Given the description of an element on the screen output the (x, y) to click on. 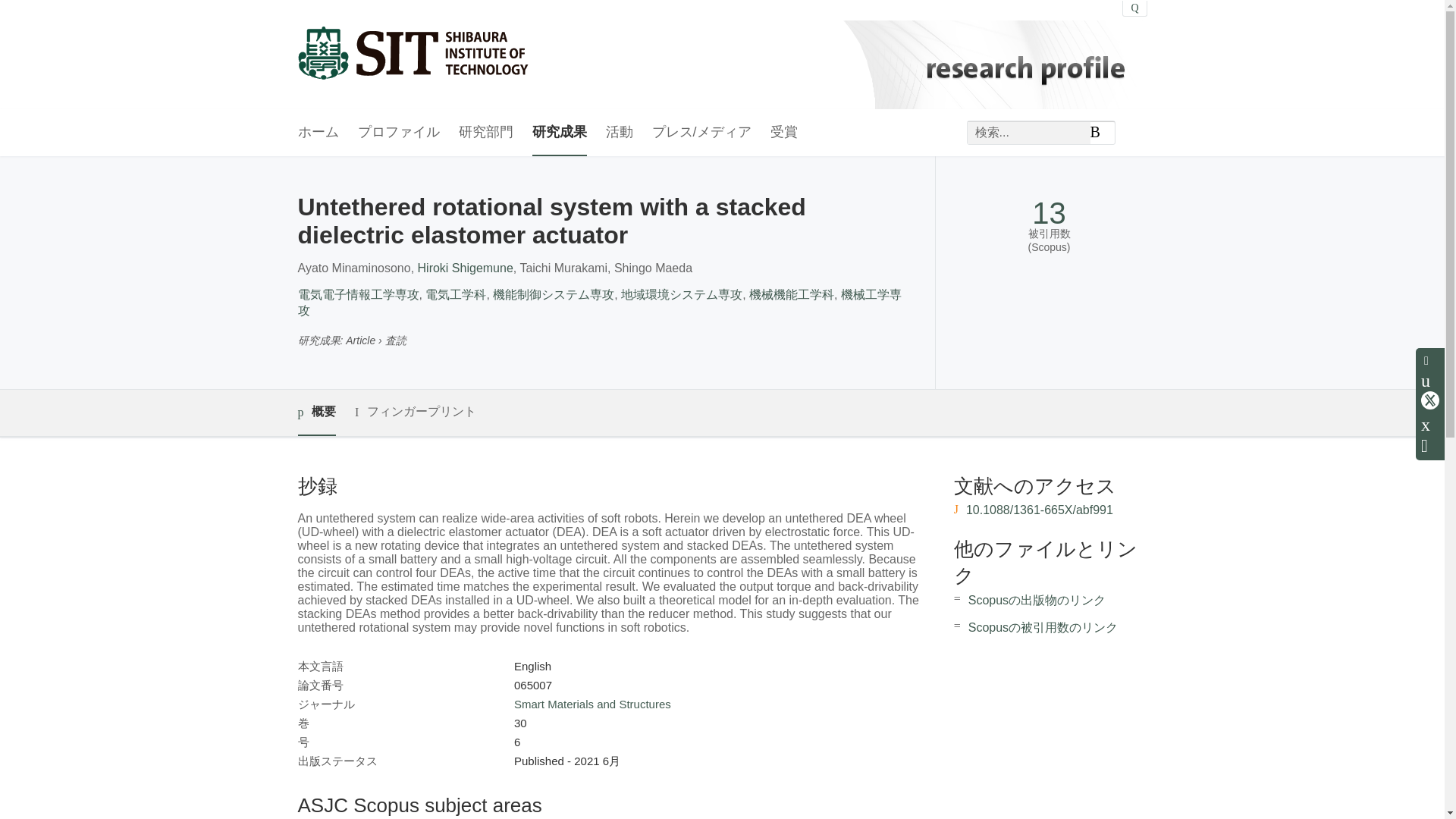
Hiroki Shigemune (465, 267)
13 (1048, 212)
Smart Materials and Structures (592, 703)
